Given the description of an element on the screen output the (x, y) to click on. 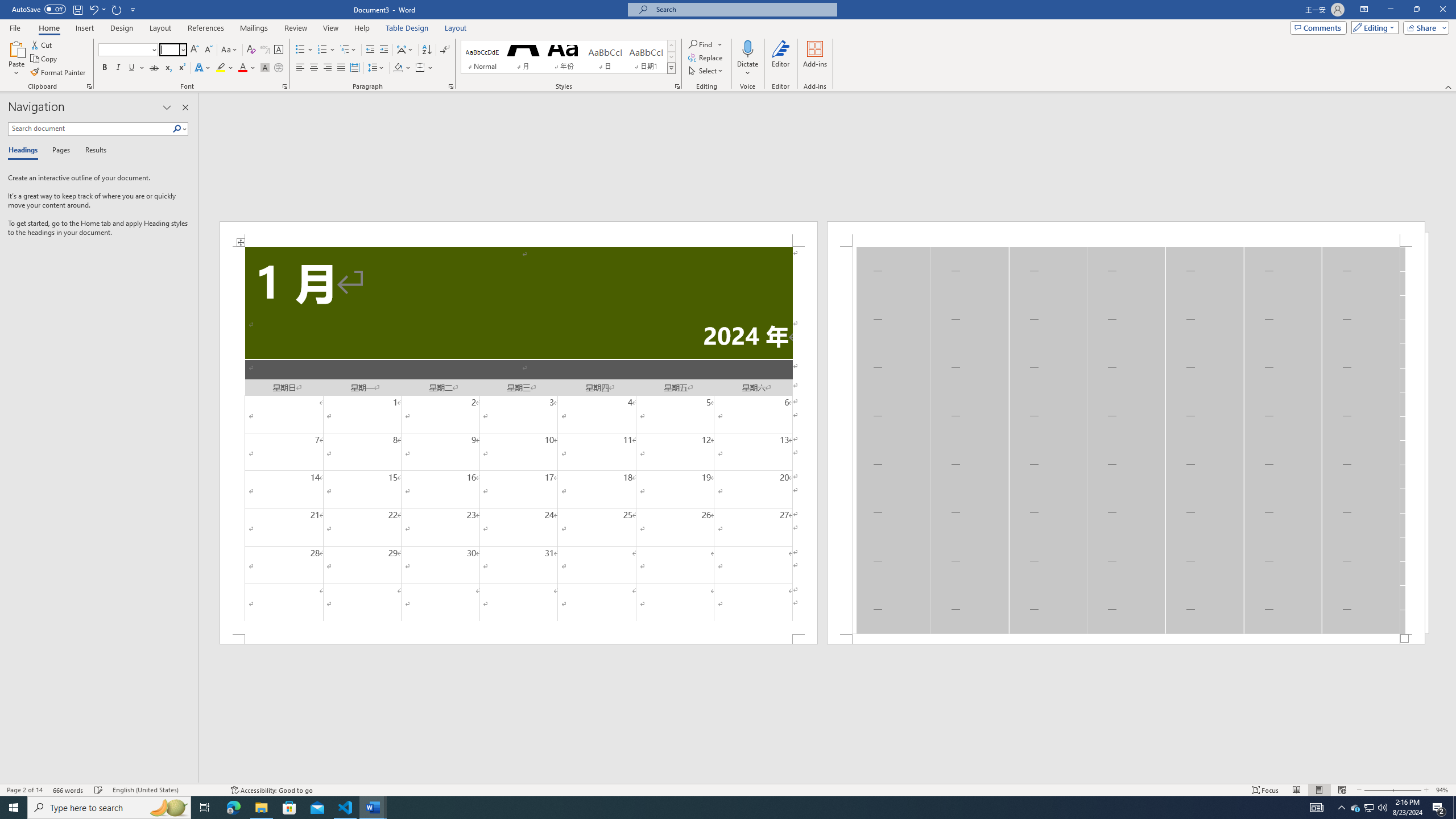
Undo Apply Quick Style (96, 9)
Undo Apply Quick Style (92, 9)
